Given the description of an element on the screen output the (x, y) to click on. 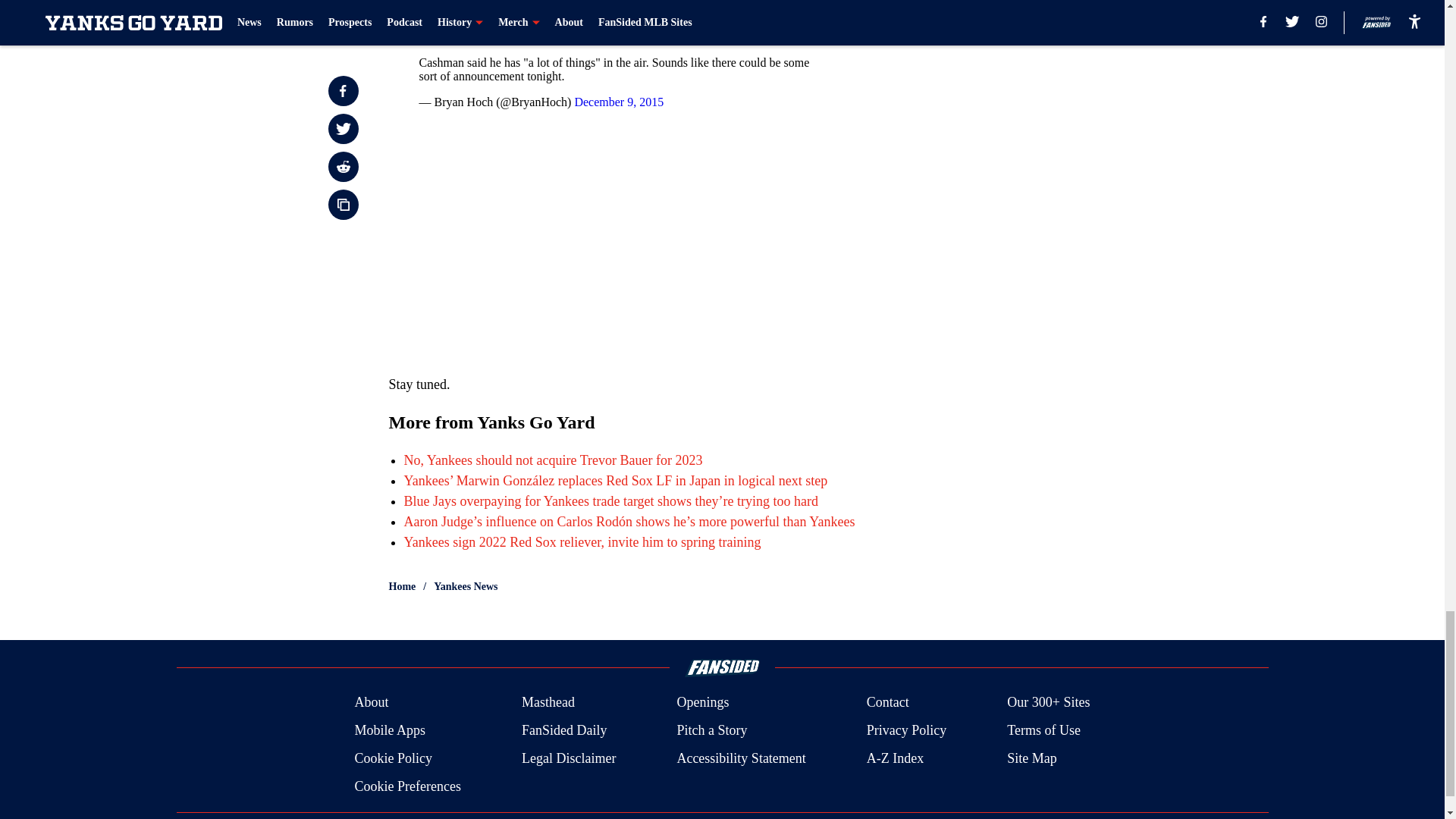
December 9, 2015 (618, 101)
December 9, 2015 (632, 2)
No, Yankees should not acquire Trevor Bauer for 2023 (552, 459)
